Given the description of an element on the screen output the (x, y) to click on. 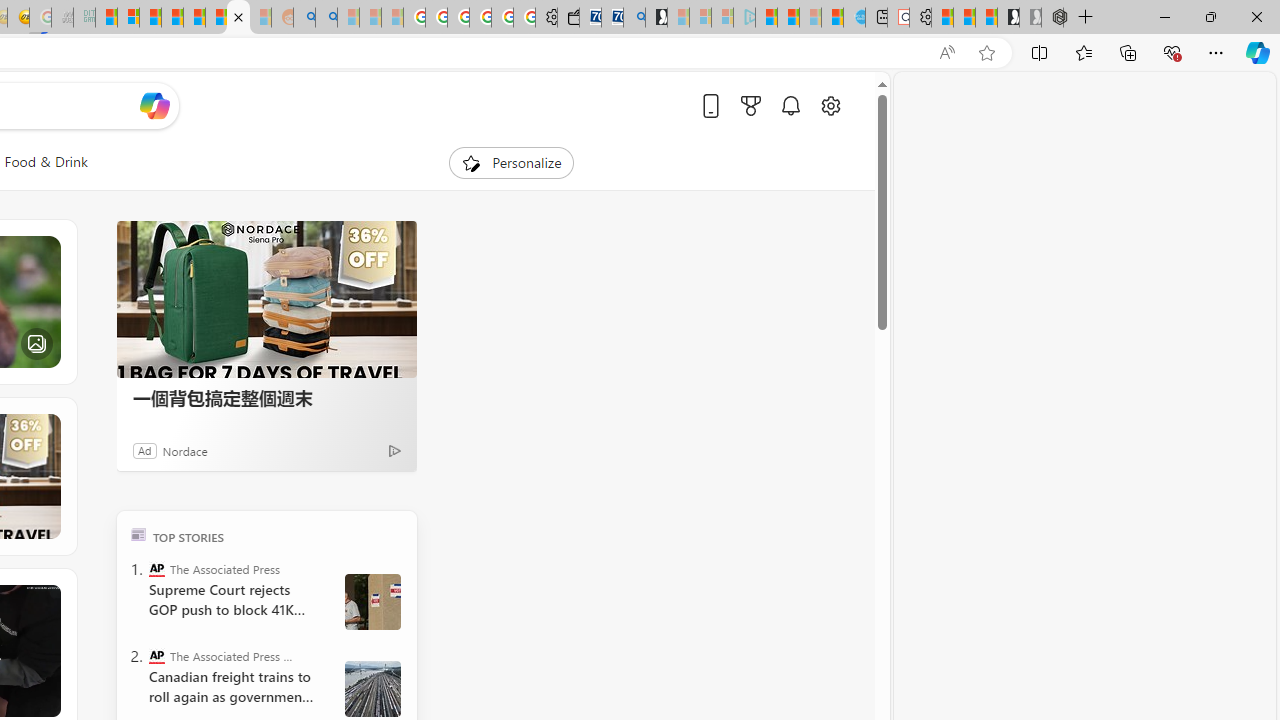
Utah sues federal government - Search (326, 17)
Nordace - Nordace Siena Is Not An Ordinary Backpack (1052, 17)
Microsoft account | Privacy (128, 17)
Ad Choice (394, 449)
Add this page to favorites (Ctrl+D) (986, 53)
Settings and more (Alt+F) (1215, 52)
Close (1256, 16)
DITOGAMES AG Imprint - Sleeping (84, 17)
Play Free Online Games | Games from Microsoft Start (1008, 17)
New Tab (1085, 17)
